Given the description of an element on the screen output the (x, y) to click on. 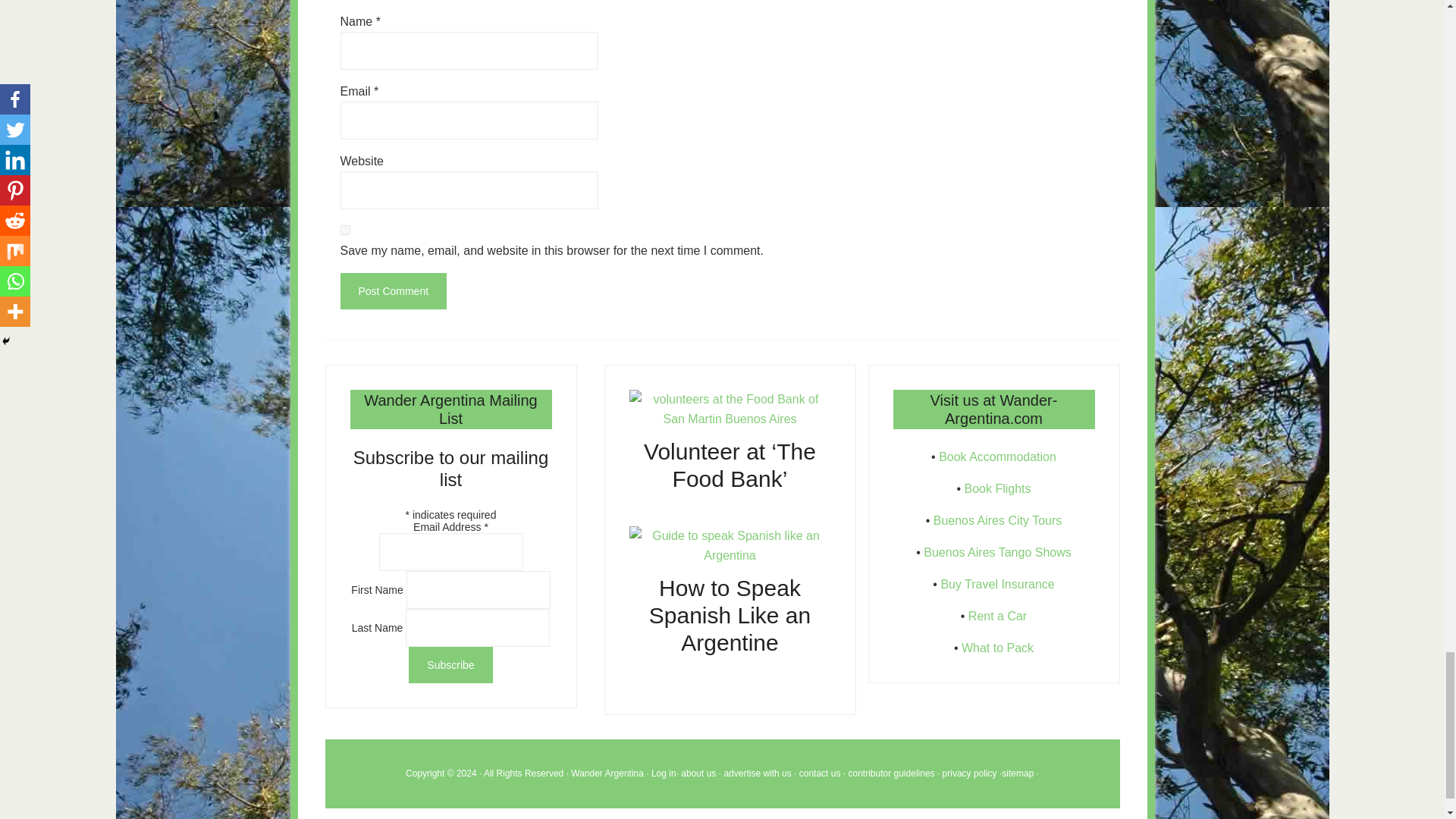
Post Comment (392, 290)
yes (344, 230)
Subscribe (450, 665)
